Given the description of an element on the screen output the (x, y) to click on. 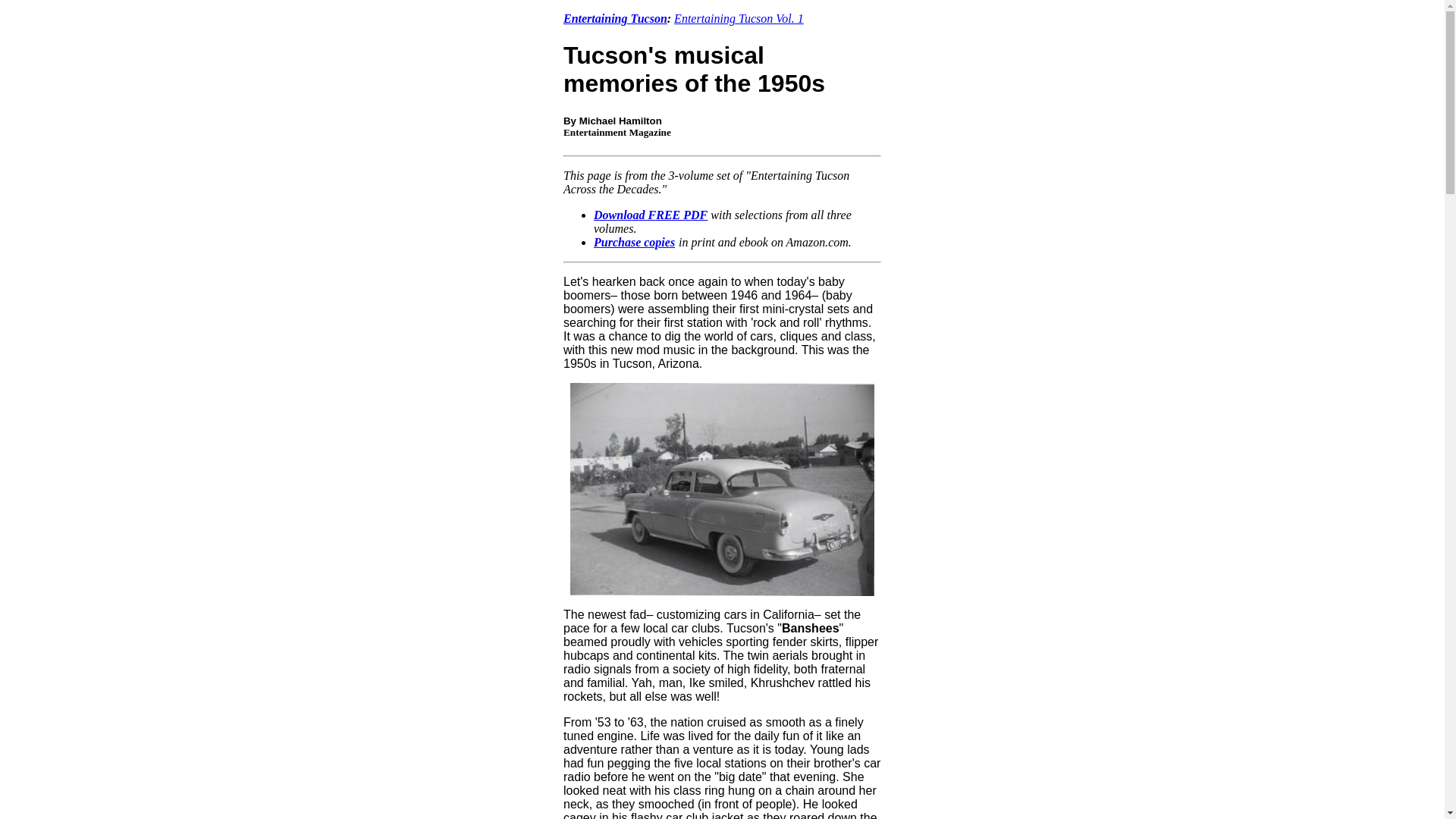
Entertaining Tucson (614, 18)
Purchase copies (634, 241)
Tucson's musical memories of the 1950s (694, 69)
Download FREE PDF (650, 214)
By Michael Hamilton (612, 120)
Entertaining Tucson Vol. 1 (738, 18)
